Given the description of an element on the screen output the (x, y) to click on. 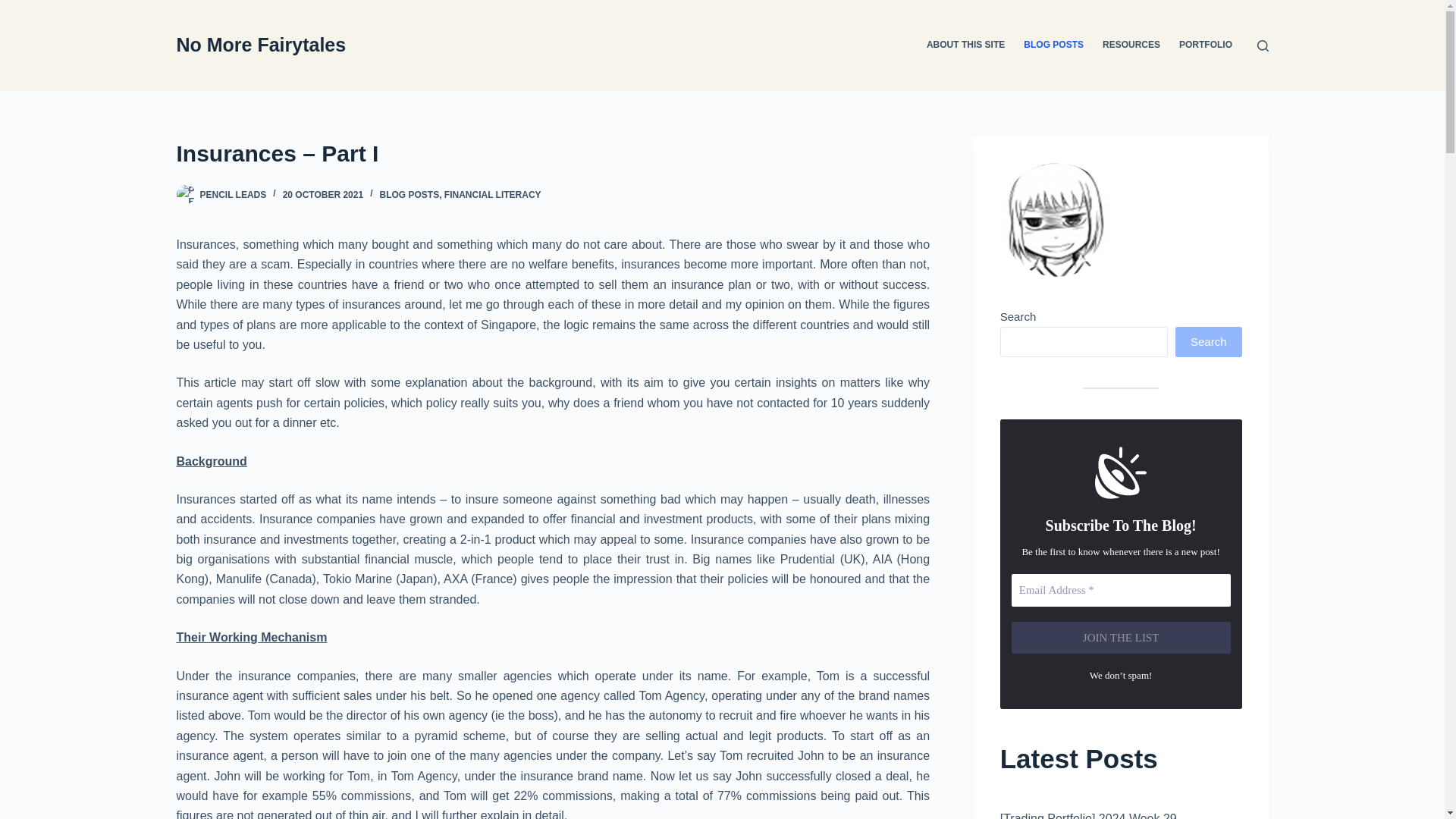
No More Fairytales (261, 44)
BLOG POSTS (408, 194)
Email Address (1120, 590)
Posts by Pencil Leads (233, 194)
PENCIL LEADS (233, 194)
Skip to content (15, 7)
JOIN THE LIST (1120, 637)
ABOUT THIS SITE (965, 45)
FINANCIAL LITERACY (492, 194)
